Given the description of an element on the screen output the (x, y) to click on. 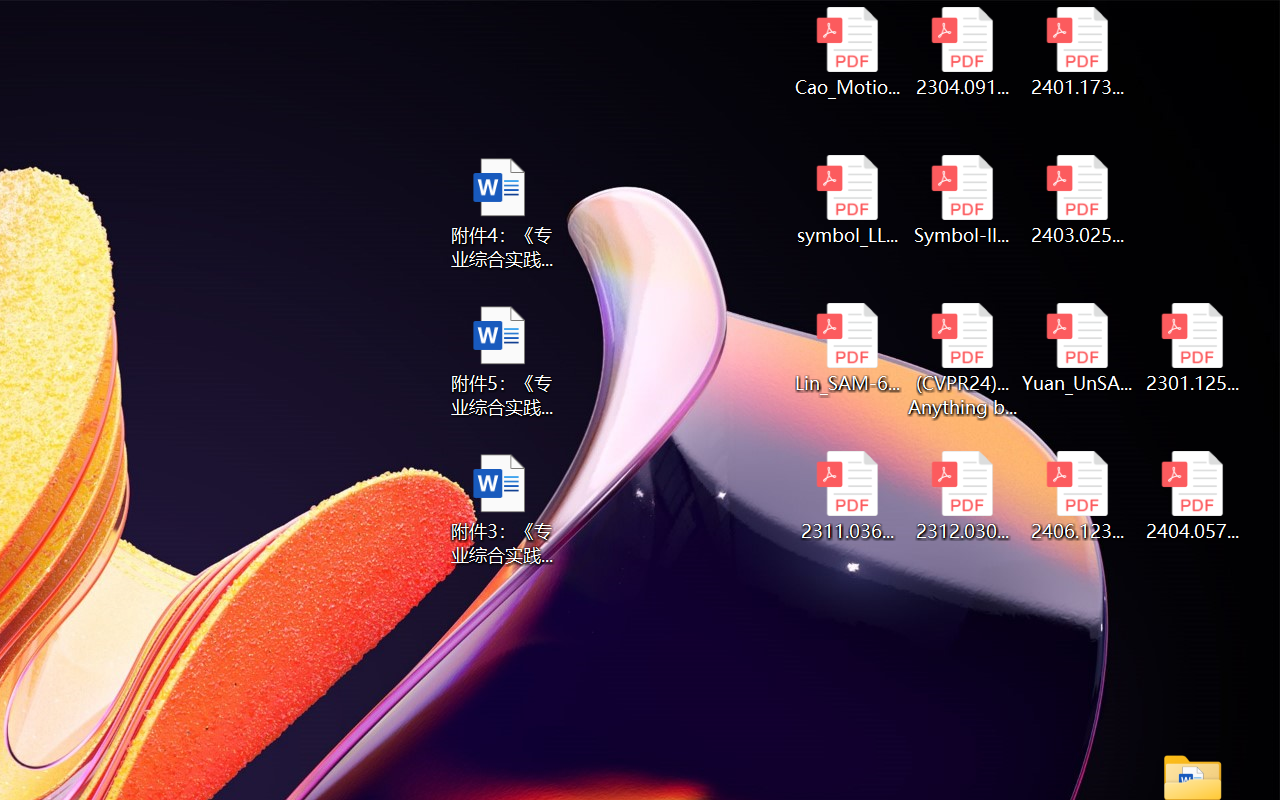
2404.05719v1.pdf (1192, 496)
2312.03032v2.pdf (962, 496)
